Given the description of an element on the screen output the (x, y) to click on. 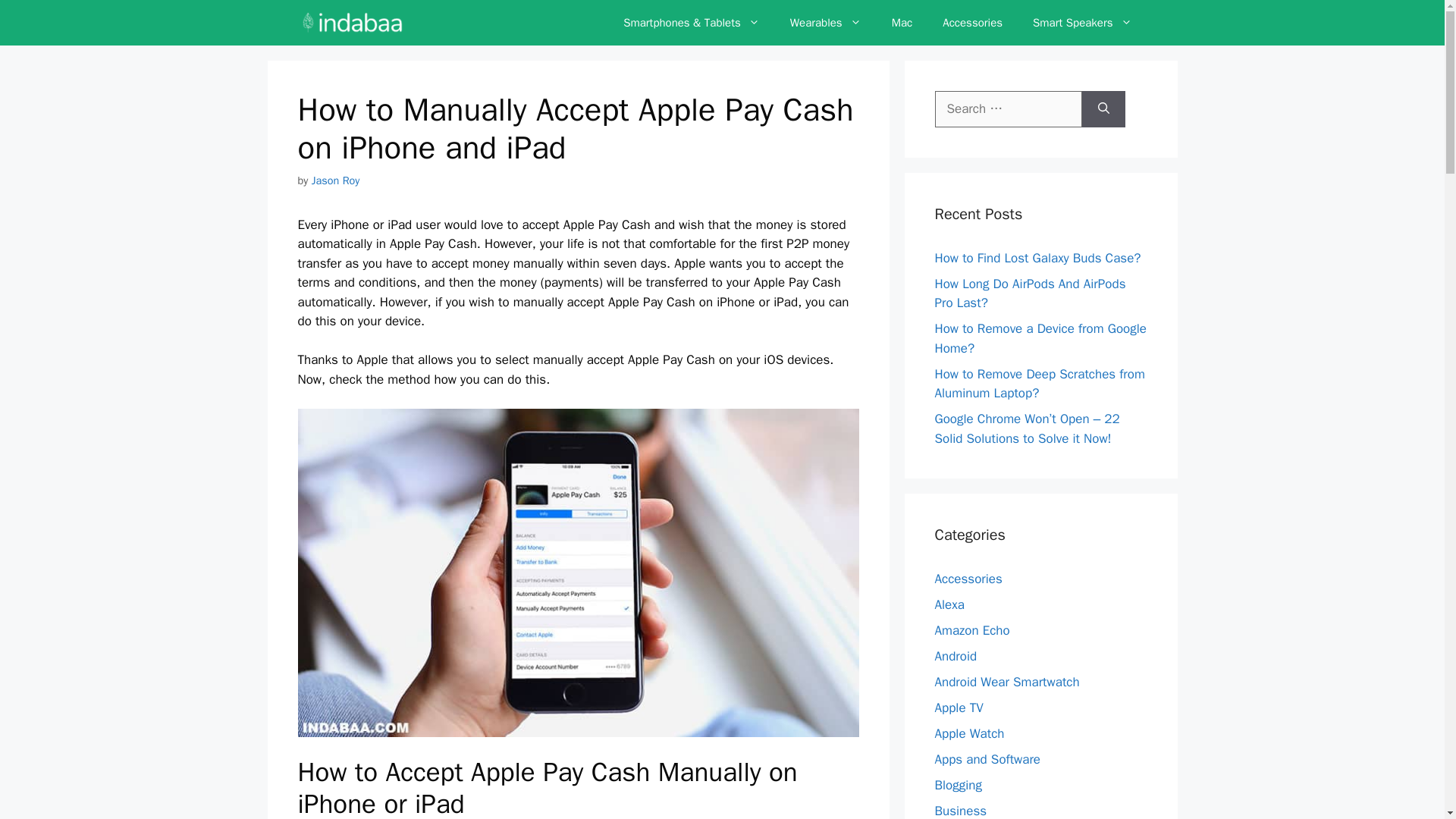
Wearables (825, 22)
INDABAA (352, 22)
Smart Speakers (1082, 22)
Search for: (1007, 108)
Accessories (972, 22)
View all posts by Jason Roy (335, 180)
Mac (902, 22)
Jason Roy (335, 180)
